Given the description of an element on the screen output the (x, y) to click on. 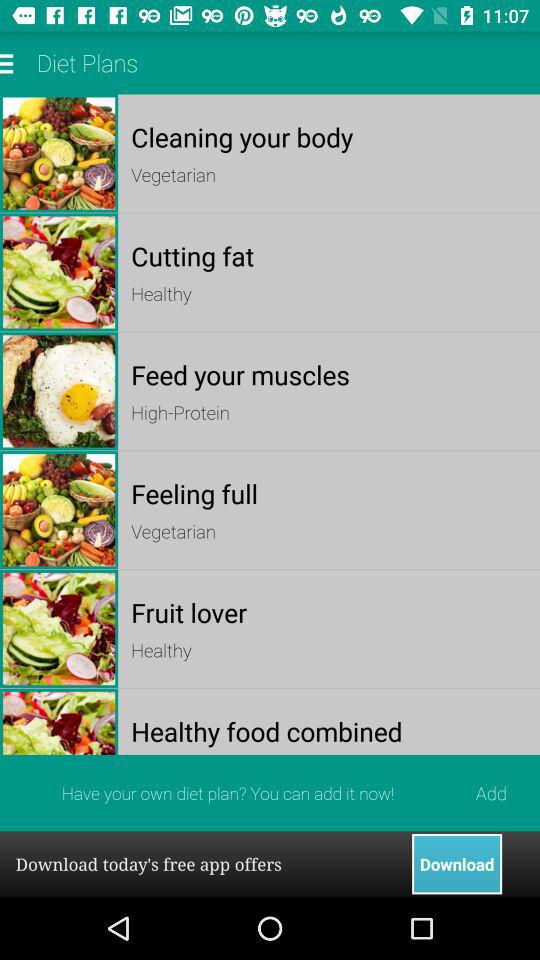
turn on the icon above the vegetarian (328, 493)
